Given the description of an element on the screen output the (x, y) to click on. 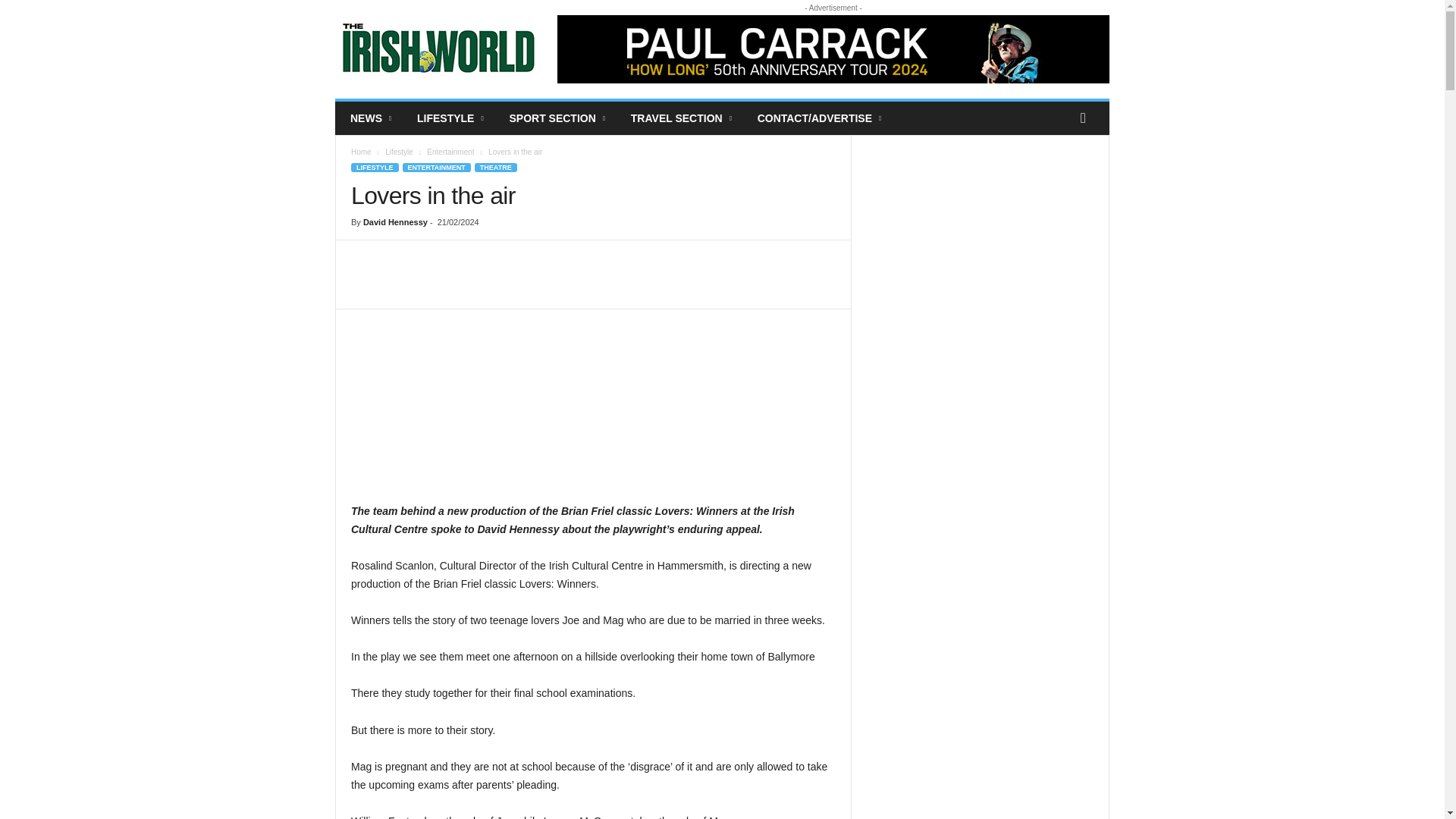
View all posts in Entertainment (450, 152)
View all posts in Lifestyle (399, 152)
